Given the description of an element on the screen output the (x, y) to click on. 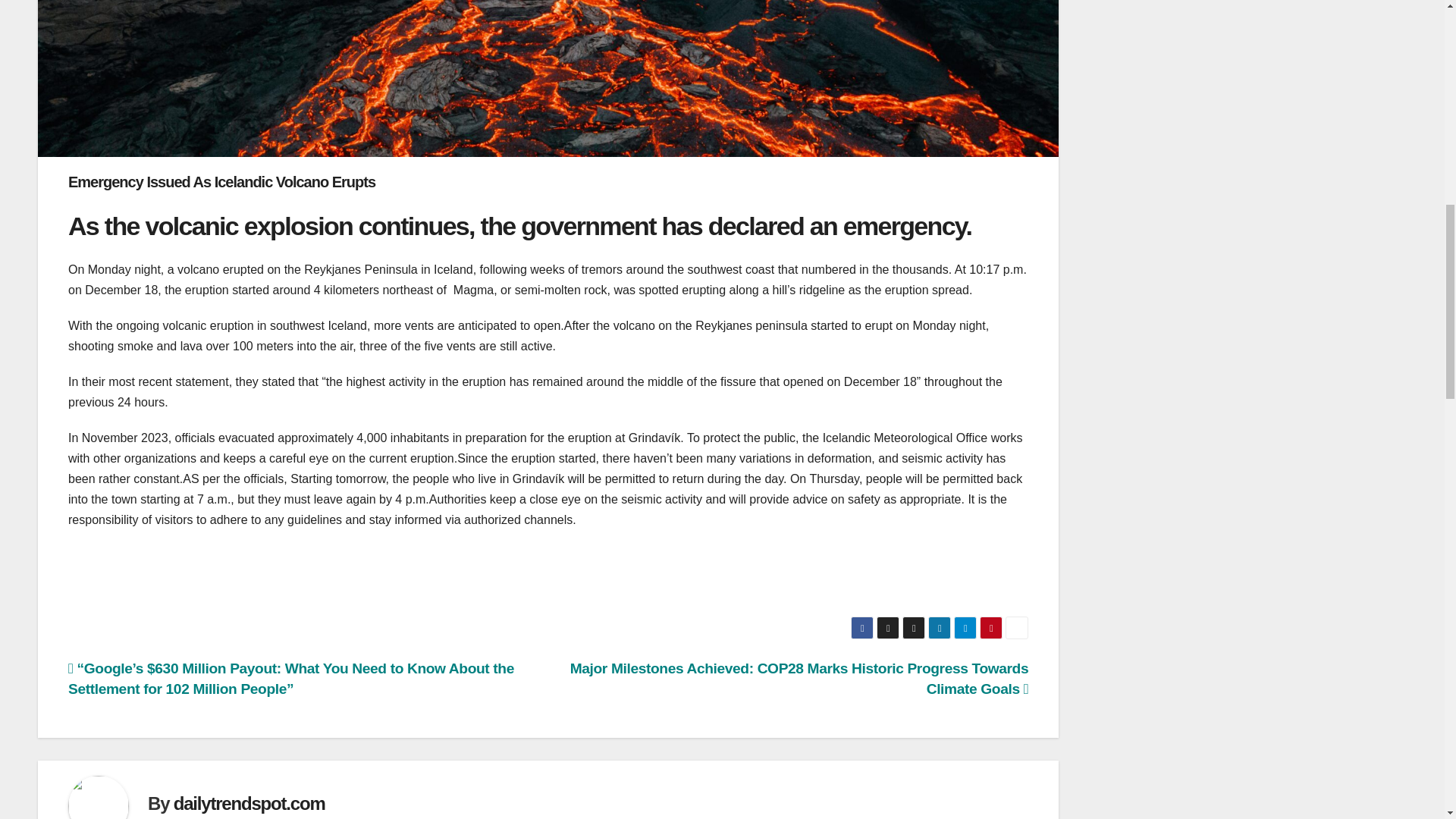
dailytrendspot.com (248, 803)
